Given the description of an element on the screen output the (x, y) to click on. 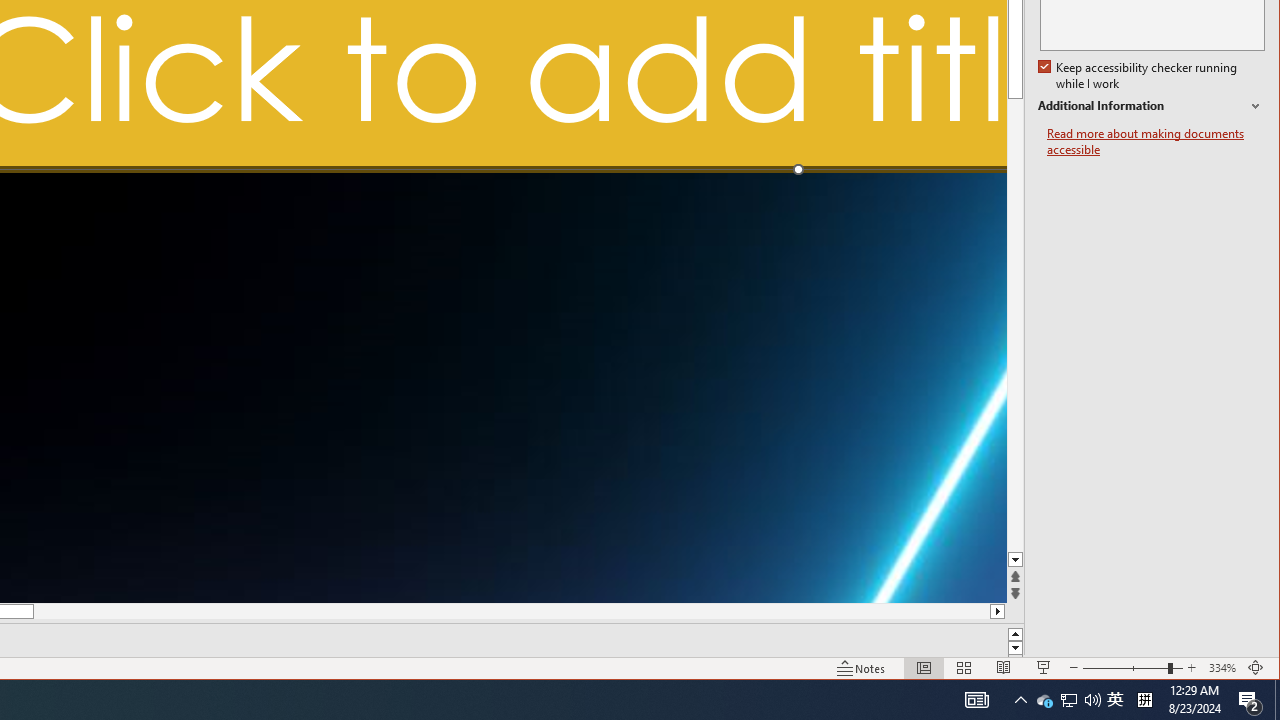
Additional Information (1151, 106)
Keep accessibility checker running while I work (1139, 76)
Zoom 334% (1222, 668)
Read more about making documents accessible (1155, 142)
Action Center, 2 new notifications (1044, 699)
